Given the description of an element on the screen output the (x, y) to click on. 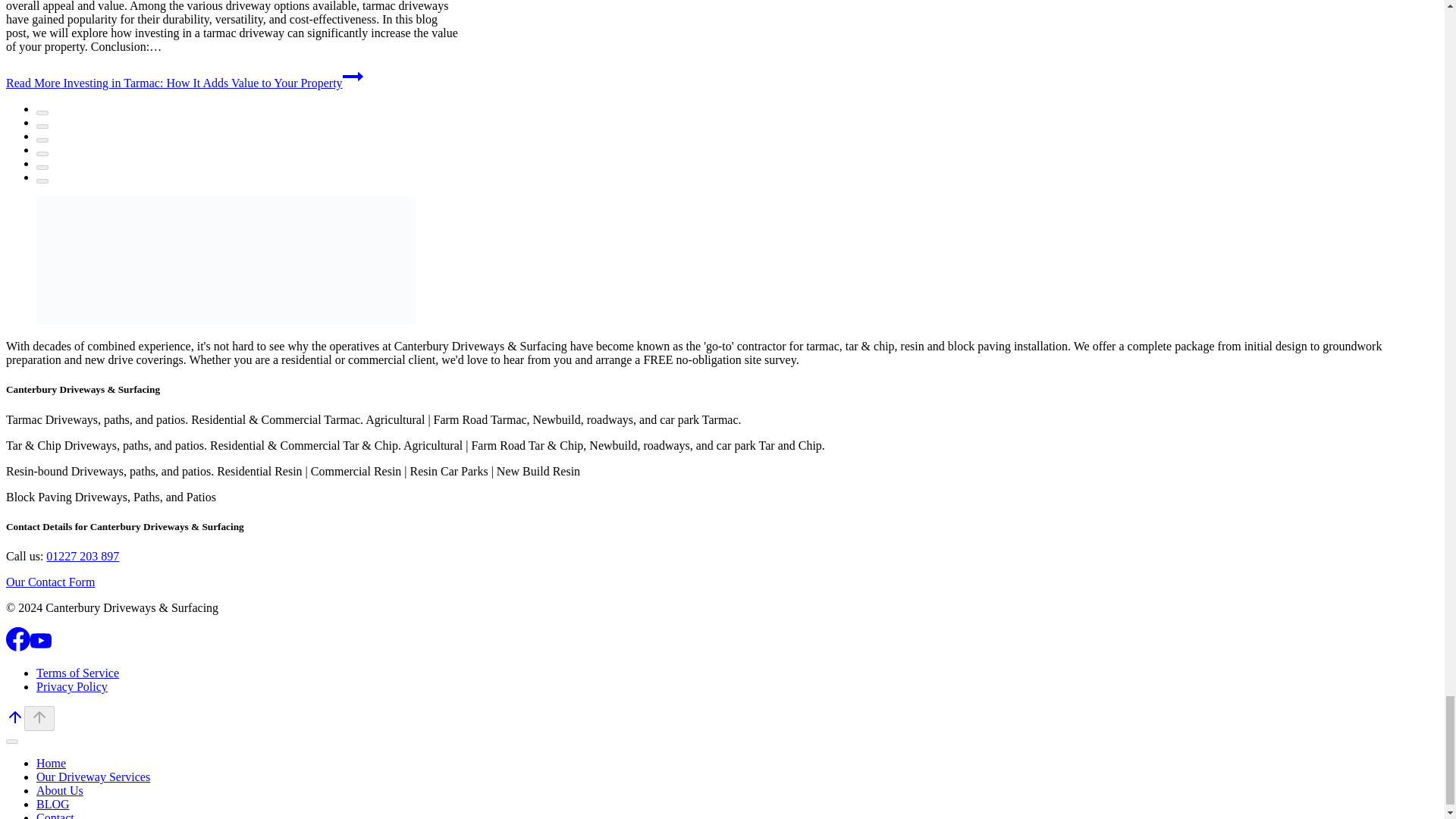
Scroll to top (39, 718)
Scroll to top (14, 721)
